Given the description of an element on the screen output the (x, y) to click on. 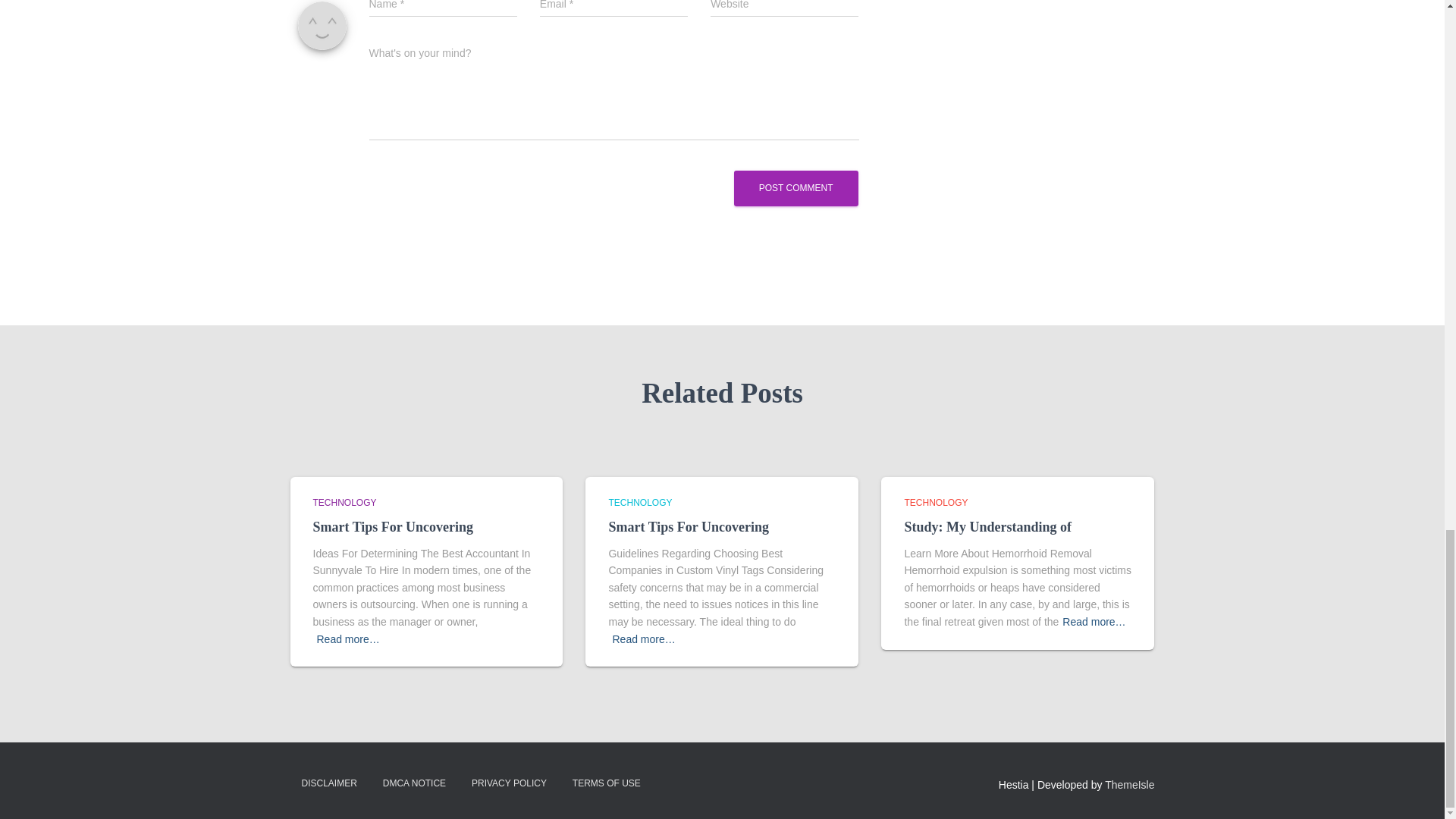
Post Comment (796, 188)
Smart Tips For Uncovering (393, 526)
Study: My Understanding of (987, 526)
View all posts in Technology (639, 502)
Post Comment (796, 188)
View all posts in Technology (344, 502)
Smart Tips For Uncovering (688, 526)
View all posts in Technology (936, 502)
